Given the description of an element on the screen output the (x, y) to click on. 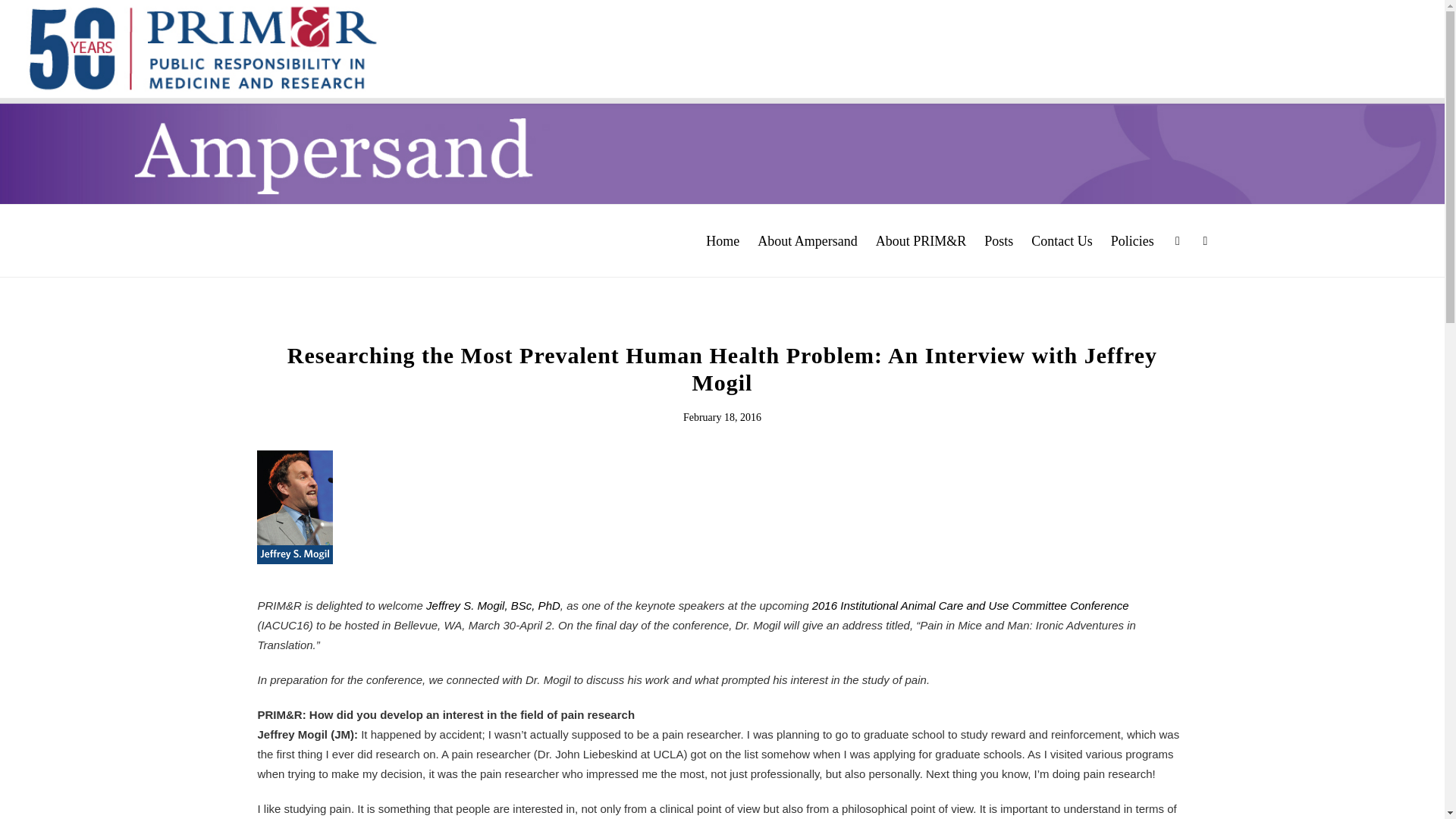
February 18, 2016 (721, 417)
Home (722, 240)
About Ampersand (806, 240)
Posts (998, 240)
Policies (1132, 240)
Jeffrey S. Mogil, BSc, PhD (493, 605)
2016 Institutional Animal Care and Use Committee Conference (970, 605)
Contact Us (1061, 240)
